Given the description of an element on the screen output the (x, y) to click on. 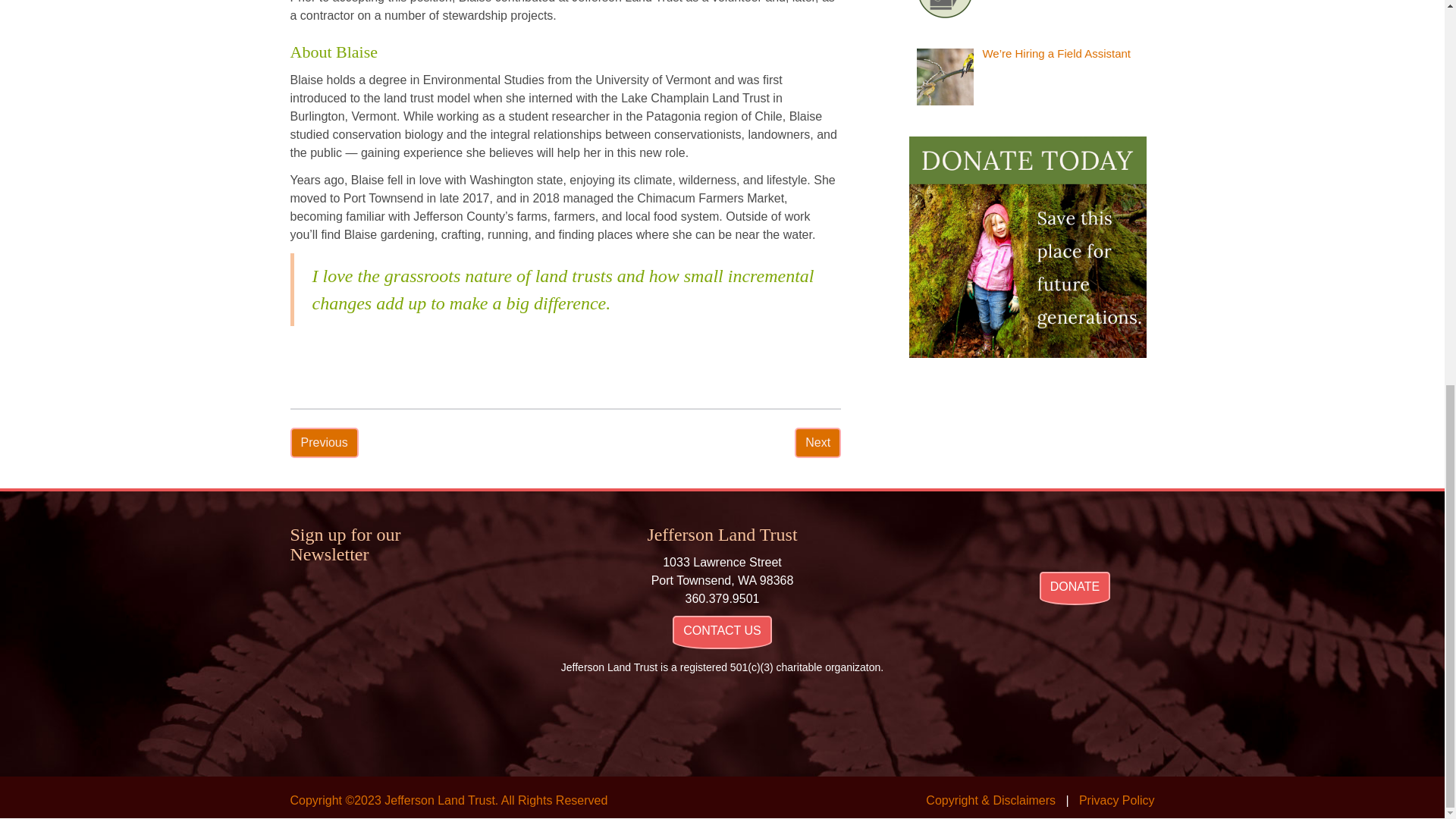
Appreciating Our Amazing Volunteers (323, 441)
